Given the description of an element on the screen output the (x, y) to click on. 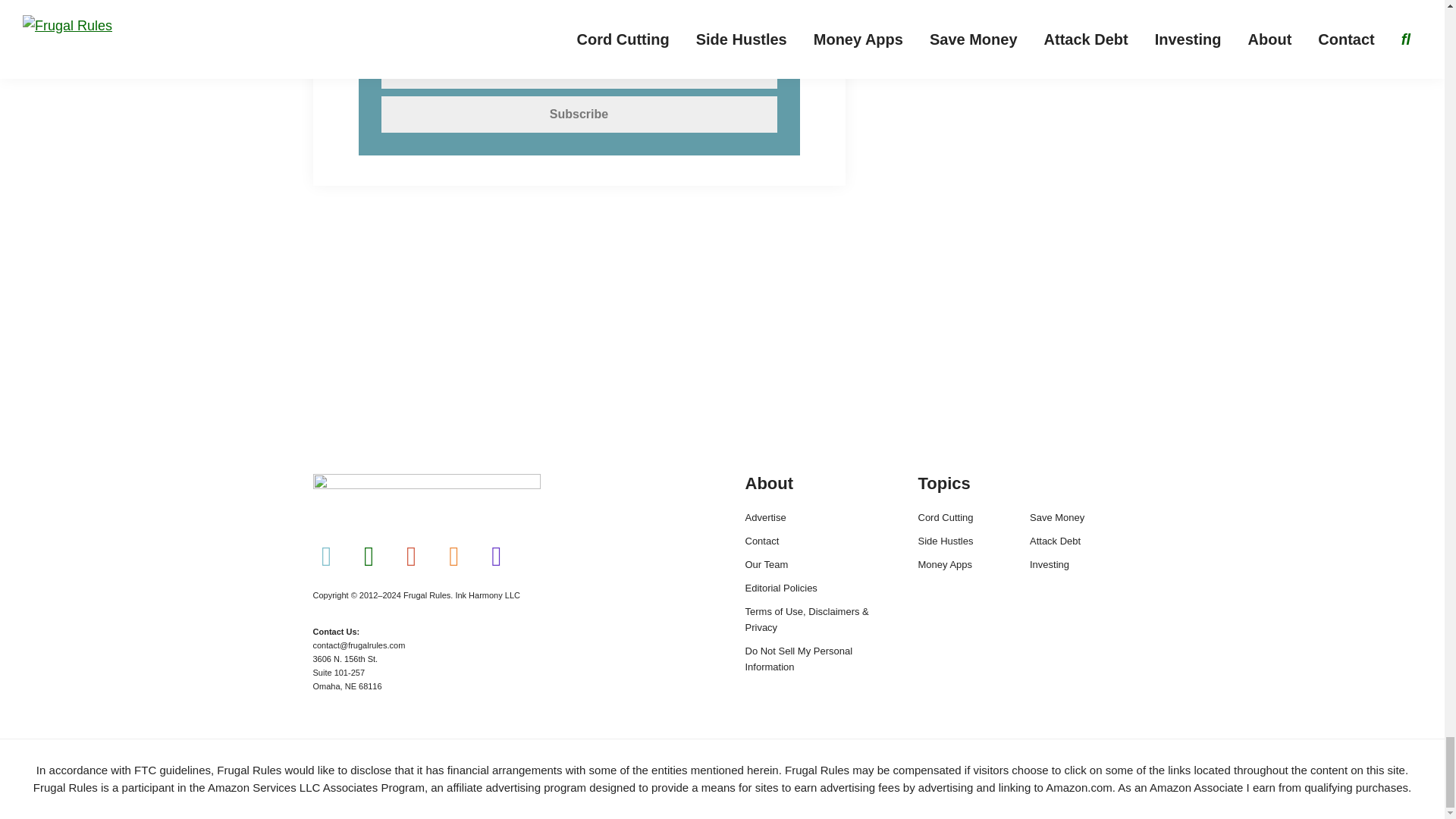
Subscribe (578, 114)
